Given the description of an element on the screen output the (x, y) to click on. 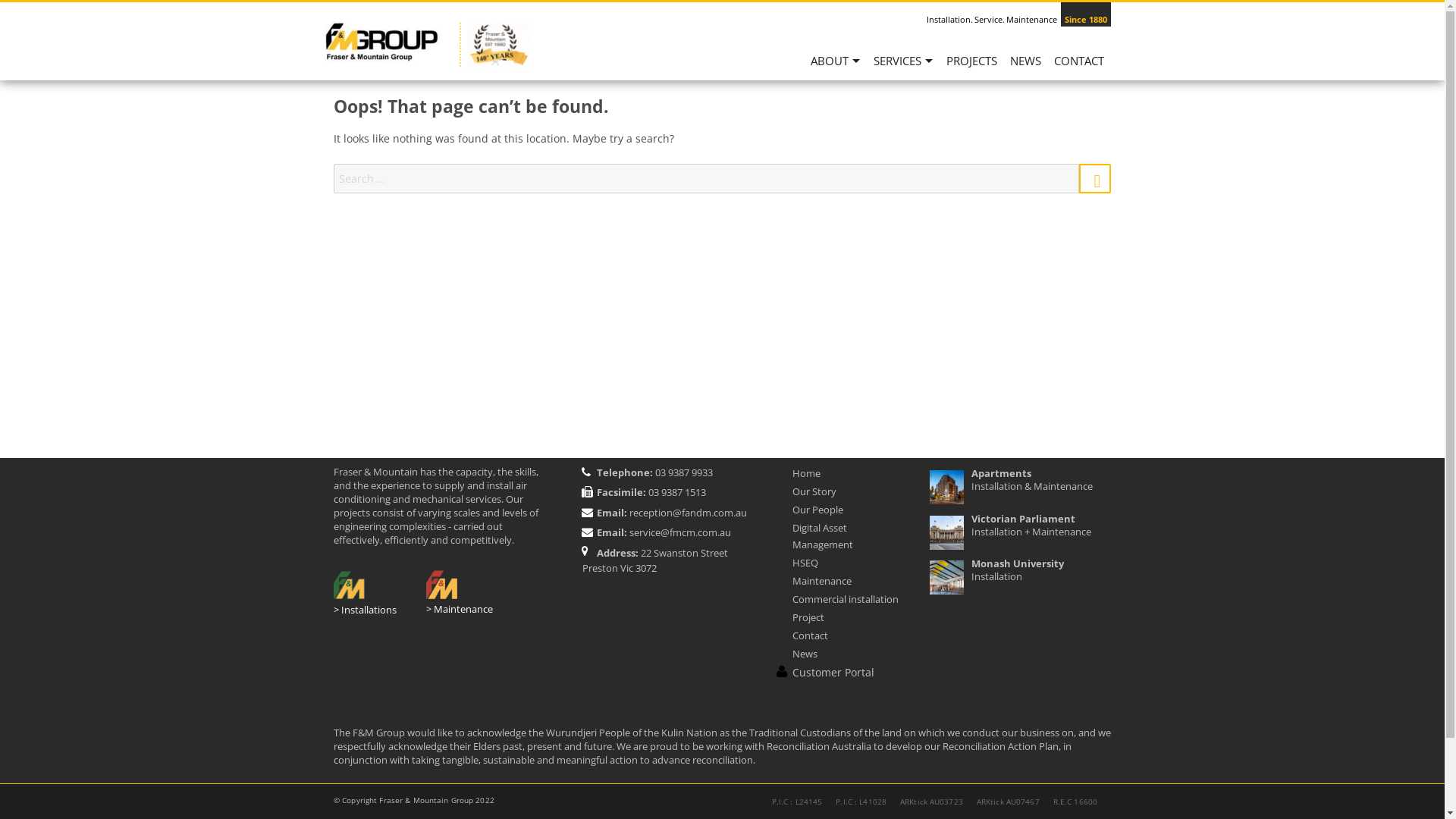
Our People Element type: text (817, 509)
HSEQ Element type: text (805, 562)
Monash University Element type: text (1017, 563)
Service. Element type: text (989, 19)
03 9387 9933 Element type: text (682, 472)
Search for: Element type: hover (706, 178)
> Maintenance Element type: text (459, 608)
ABOUT Element type: text (835, 66)
NEWS Element type: text (1026, 66)
Apartments Element type: text (1001, 473)
Since 1880 Element type: text (1085, 19)
Digital Asset Management Element type: text (822, 535)
Customer Portal Element type: text (833, 672)
Maintenance Element type: text (1031, 19)
SERVICES Element type: text (903, 66)
Home Element type: text (806, 473)
Project Element type: text (808, 617)
News Element type: text (804, 653)
Victorian Parliament Element type: text (1023, 517)
service@fmcm.com.au Element type: text (680, 532)
Our Story Element type: text (814, 491)
Maintenance Element type: text (821, 580)
PROJECTS Element type: text (972, 66)
Commercial installation Element type: text (845, 598)
CONTACT Element type: text (1079, 66)
reception@fandm.com.au Element type: text (687, 512)
03 9387 1513 Element type: text (676, 491)
> Installations Element type: text (364, 609)
Installation. Element type: text (949, 19)
Contact Element type: text (810, 635)
